Given the description of an element on the screen output the (x, y) to click on. 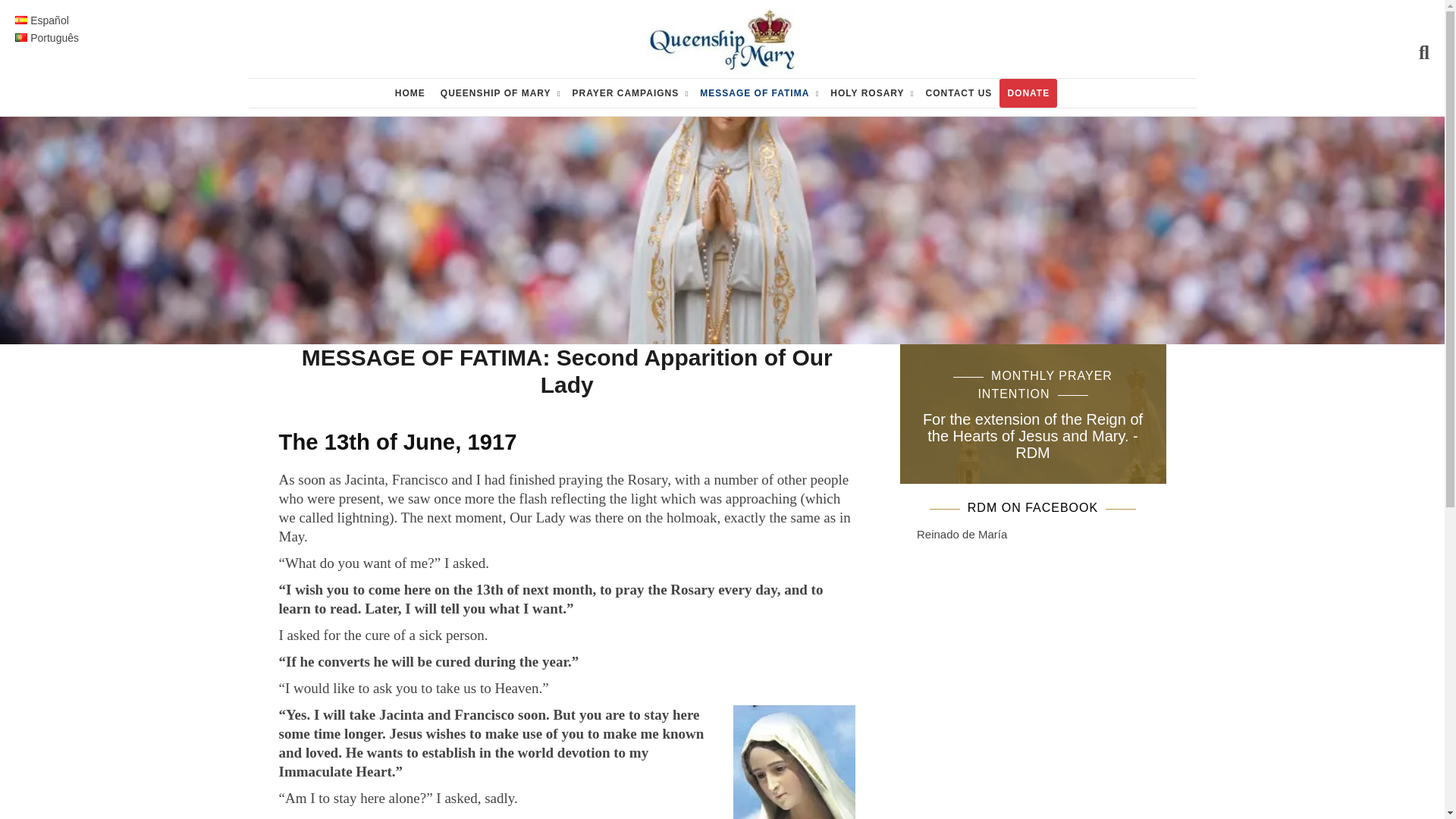
HOME (409, 92)
DONATE (1027, 92)
QUEENSHIP OF MARY (498, 92)
CONTACT US (959, 92)
PRAYER CAMPAIGNS (628, 92)
MESSAGE OF FATIMA (757, 92)
HOLY ROSARY (869, 92)
